Given the description of an element on the screen output the (x, y) to click on. 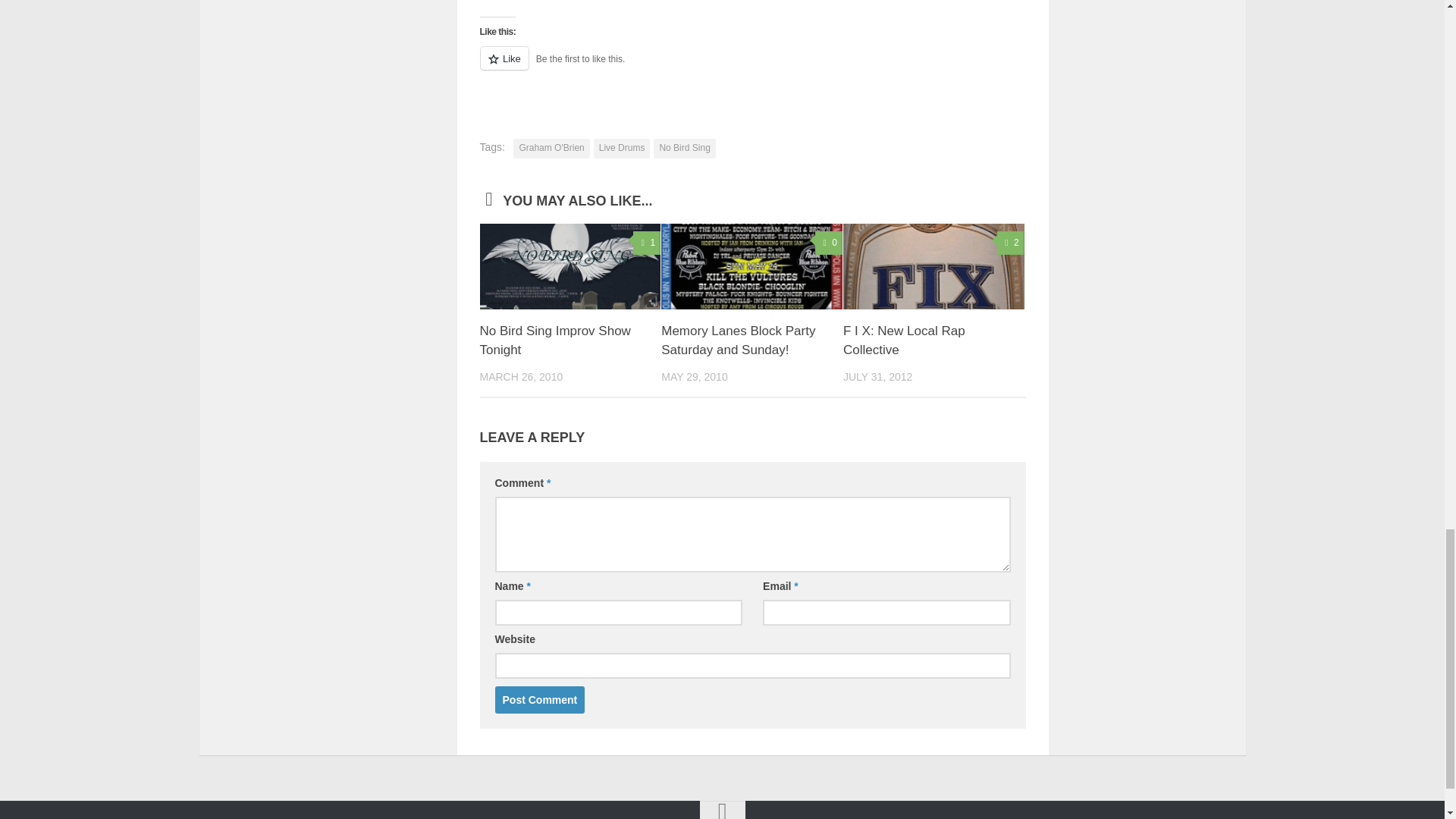
Post Comment (540, 699)
